Given the description of an element on the screen output the (x, y) to click on. 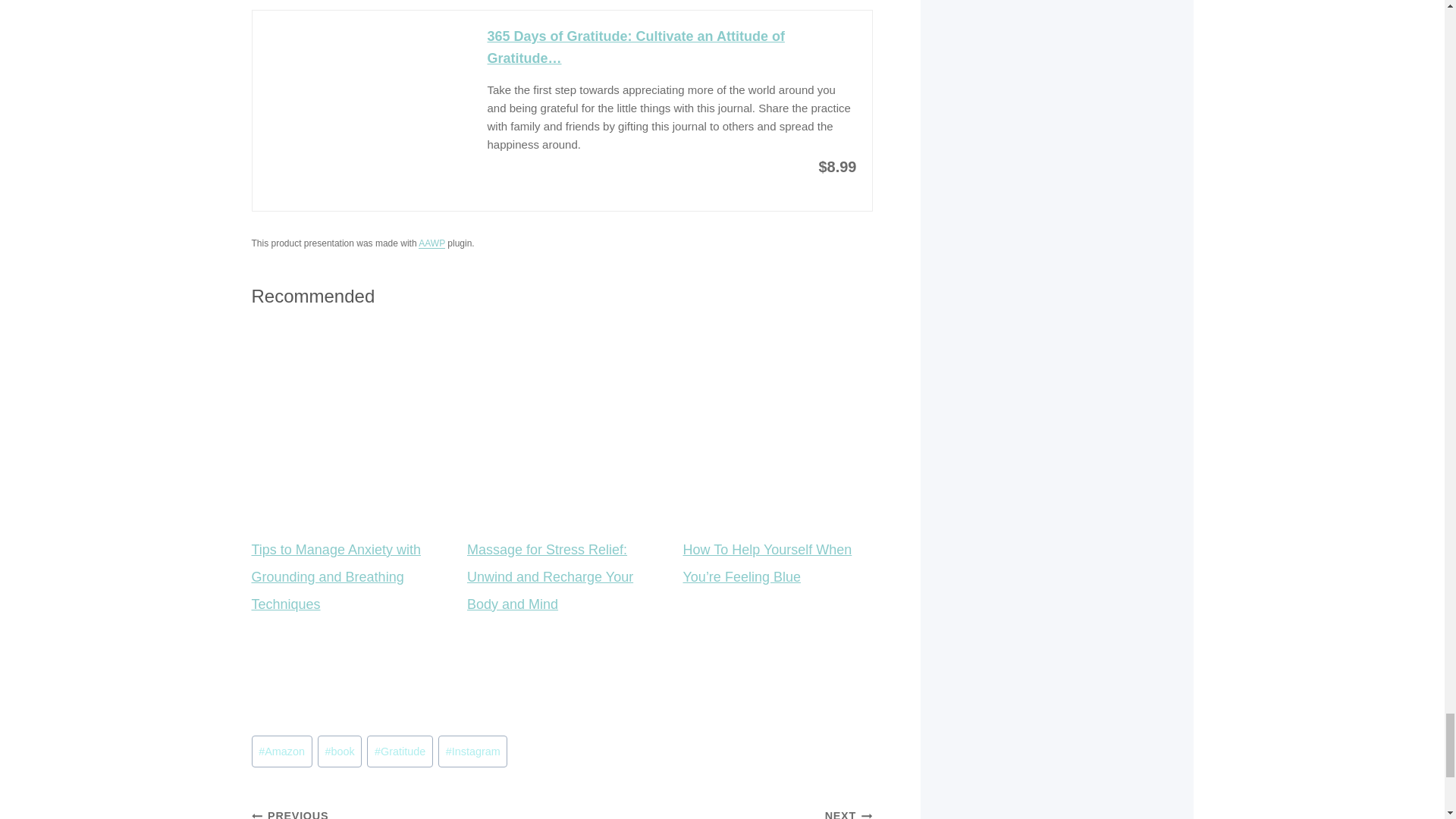
Gratitude (399, 751)
Instagram (472, 751)
Amazon WordPress Plugin (432, 243)
book (339, 751)
365 Days of Gratitude: Cultivate an Attitude of Gratitude... (671, 47)
Amazon (282, 751)
Amazon Prime (629, 195)
365 Days of Gratitude: Cultivate an Attitude of Gratitude... (361, 82)
